Given the description of an element on the screen output the (x, y) to click on. 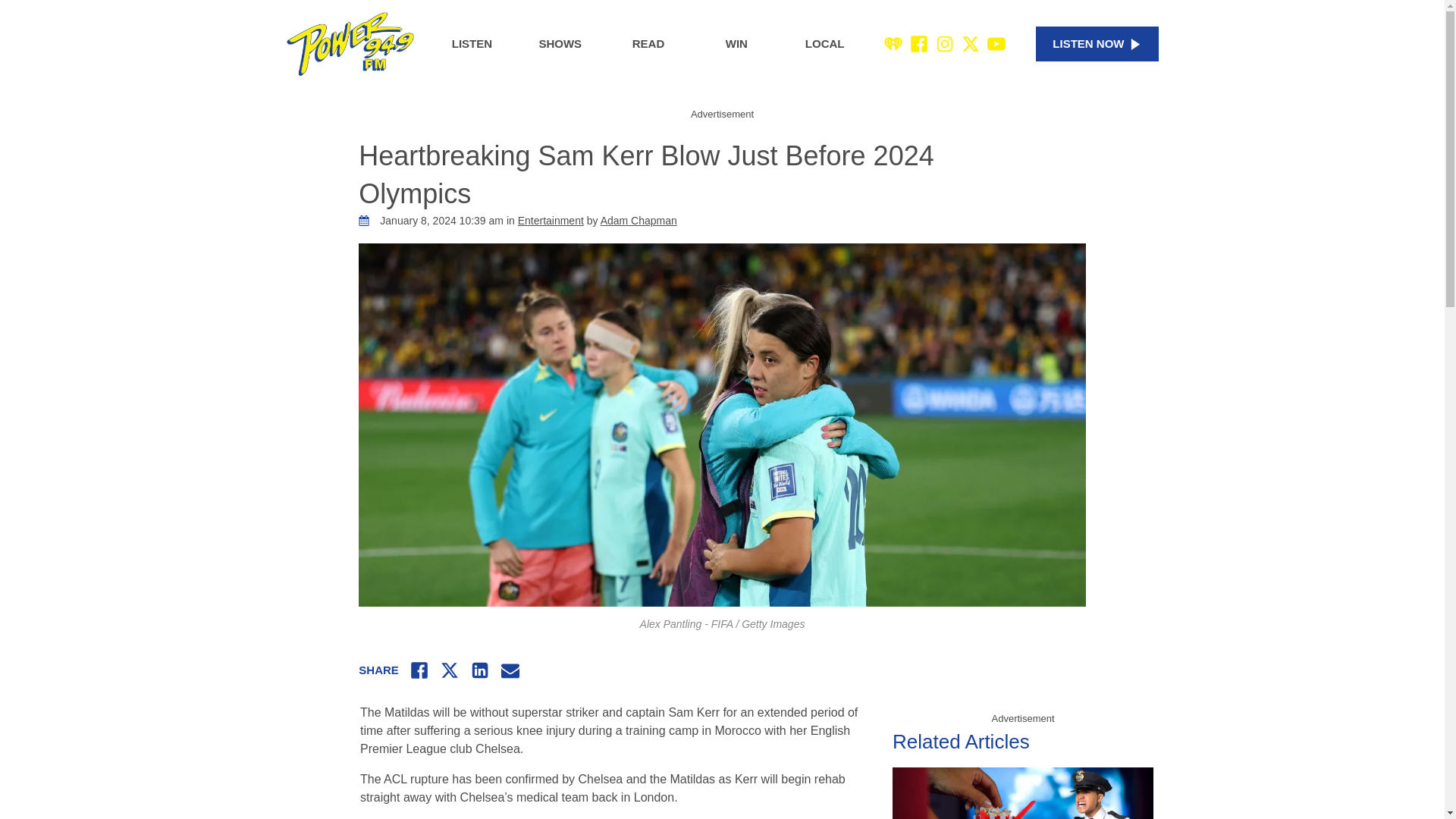
Instagram (944, 44)
Facebook (919, 44)
LISTEN NOW (1096, 44)
YouTube (996, 44)
Posts by Adam Chapman (638, 220)
iHeart (892, 44)
LOCAL (824, 43)
READ (648, 43)
WIN (736, 43)
SHOWS (560, 43)
